Given the description of an element on the screen output the (x, y) to click on. 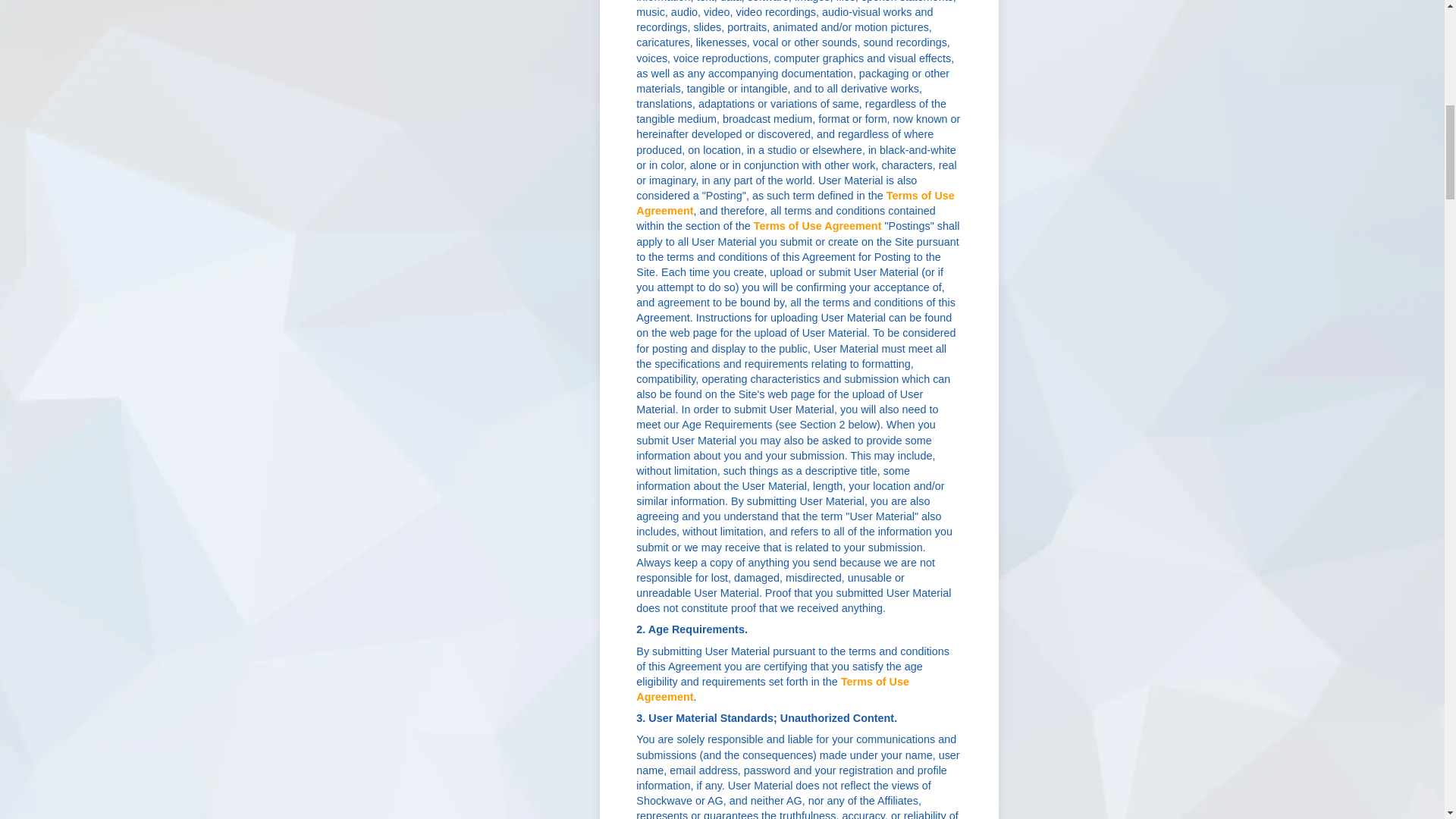
Terms of Use Agreement (772, 688)
Terms of Use Agreement (818, 225)
Terms of Use Agreement (795, 203)
